Given the description of an element on the screen output the (x, y) to click on. 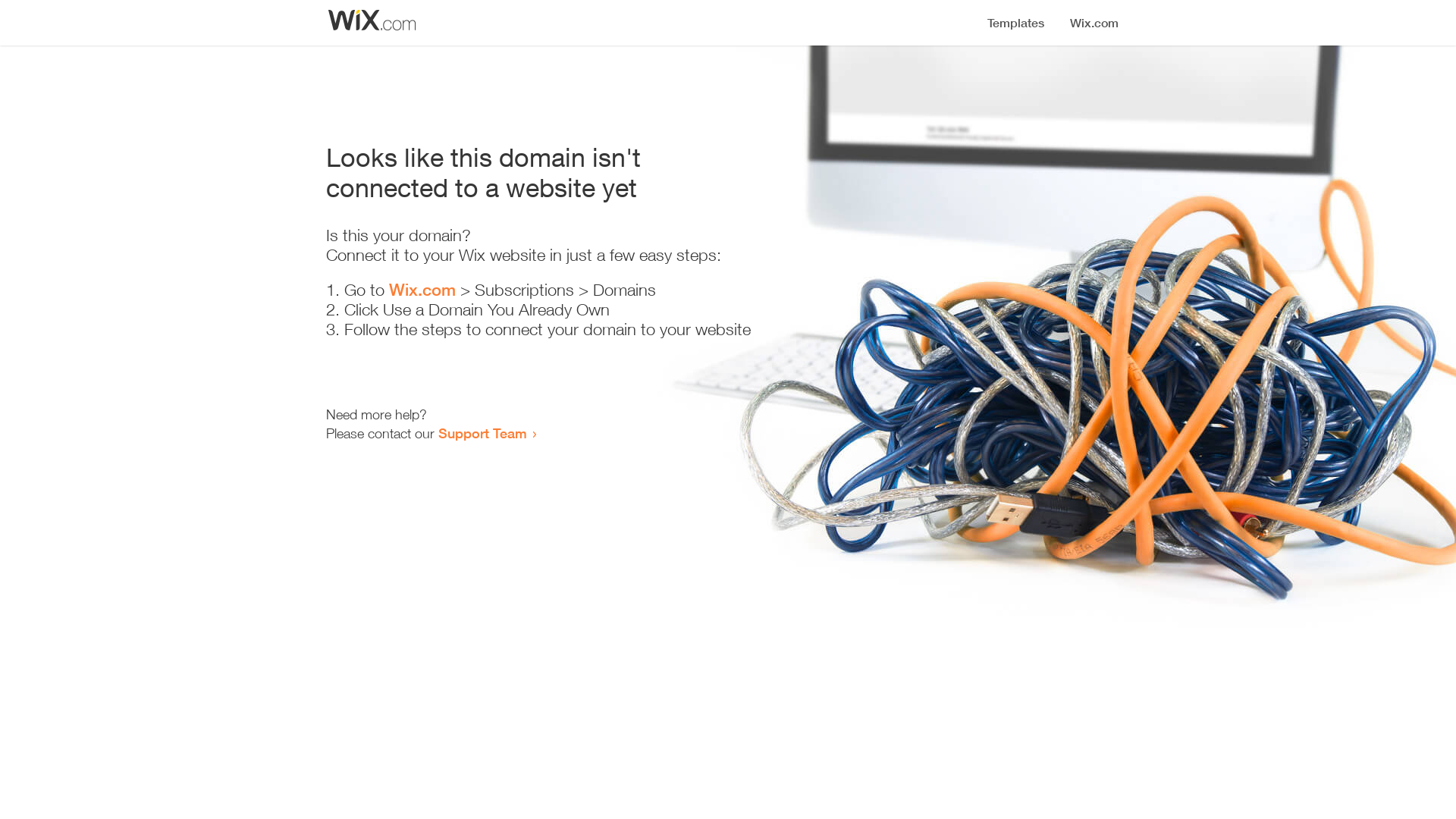
Support Team Element type: text (482, 432)
Wix.com Element type: text (422, 289)
